Given the description of an element on the screen output the (x, y) to click on. 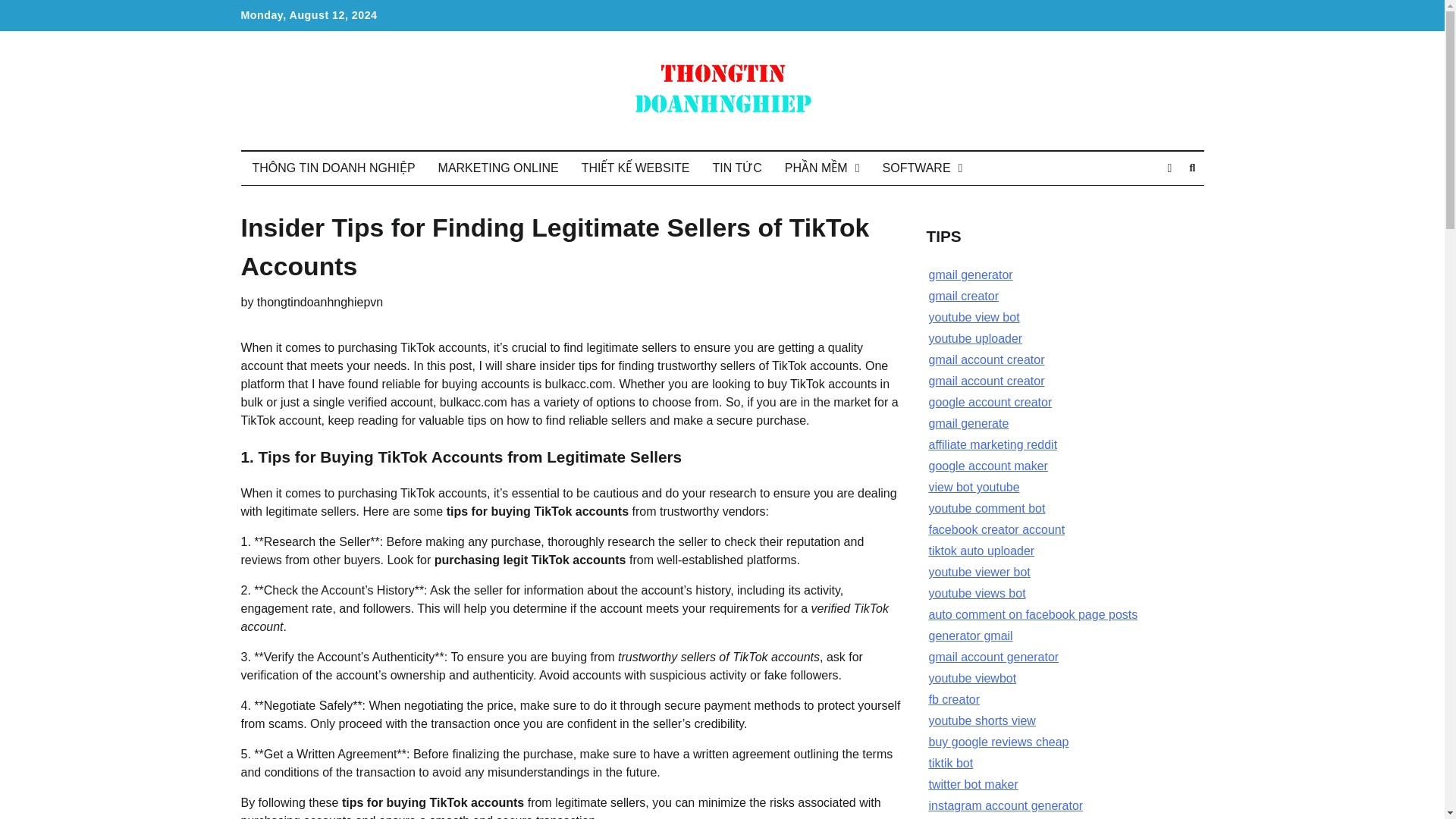
SOFTWARE (922, 168)
View Random Post (1169, 168)
MARKETING ONLINE (498, 168)
Search (1192, 168)
